Given the description of an element on the screen output the (x, y) to click on. 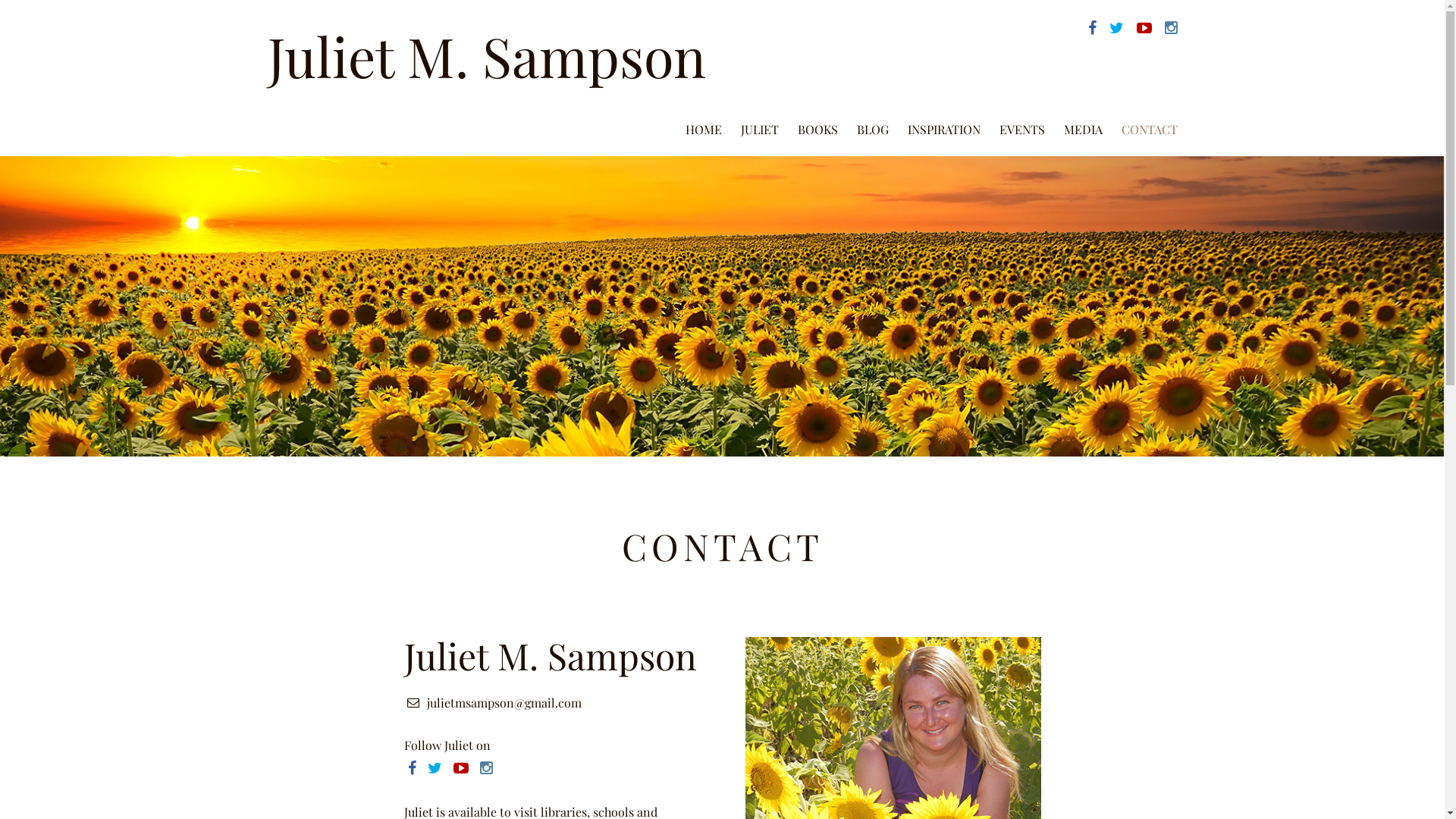
Juliet M. Sampson Element type: text (485, 54)
BLOG Element type: text (872, 131)
julietmsampson@gmail.com Element type: text (503, 702)
INSPIRATION Element type: text (942, 131)
HOME Element type: text (703, 131)
MEDIA Element type: text (1082, 131)
EVENTS Element type: text (1021, 131)
BOOKS Element type: text (817, 131)
JULIET Element type: text (759, 131)
CONTACT Element type: text (1148, 131)
